Given the description of an element on the screen output the (x, y) to click on. 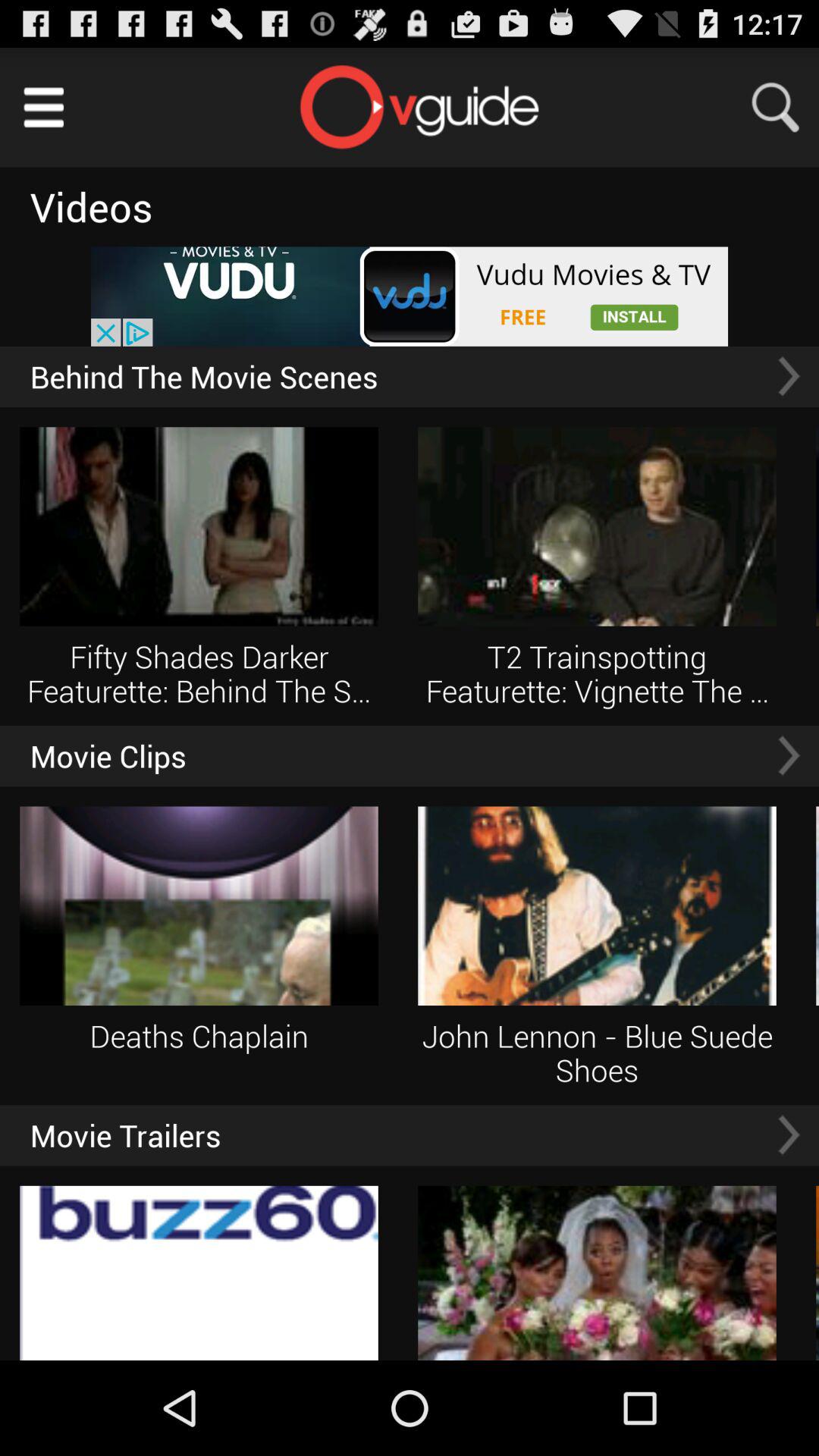
advertisement page (409, 296)
